Given the description of an element on the screen output the (x, y) to click on. 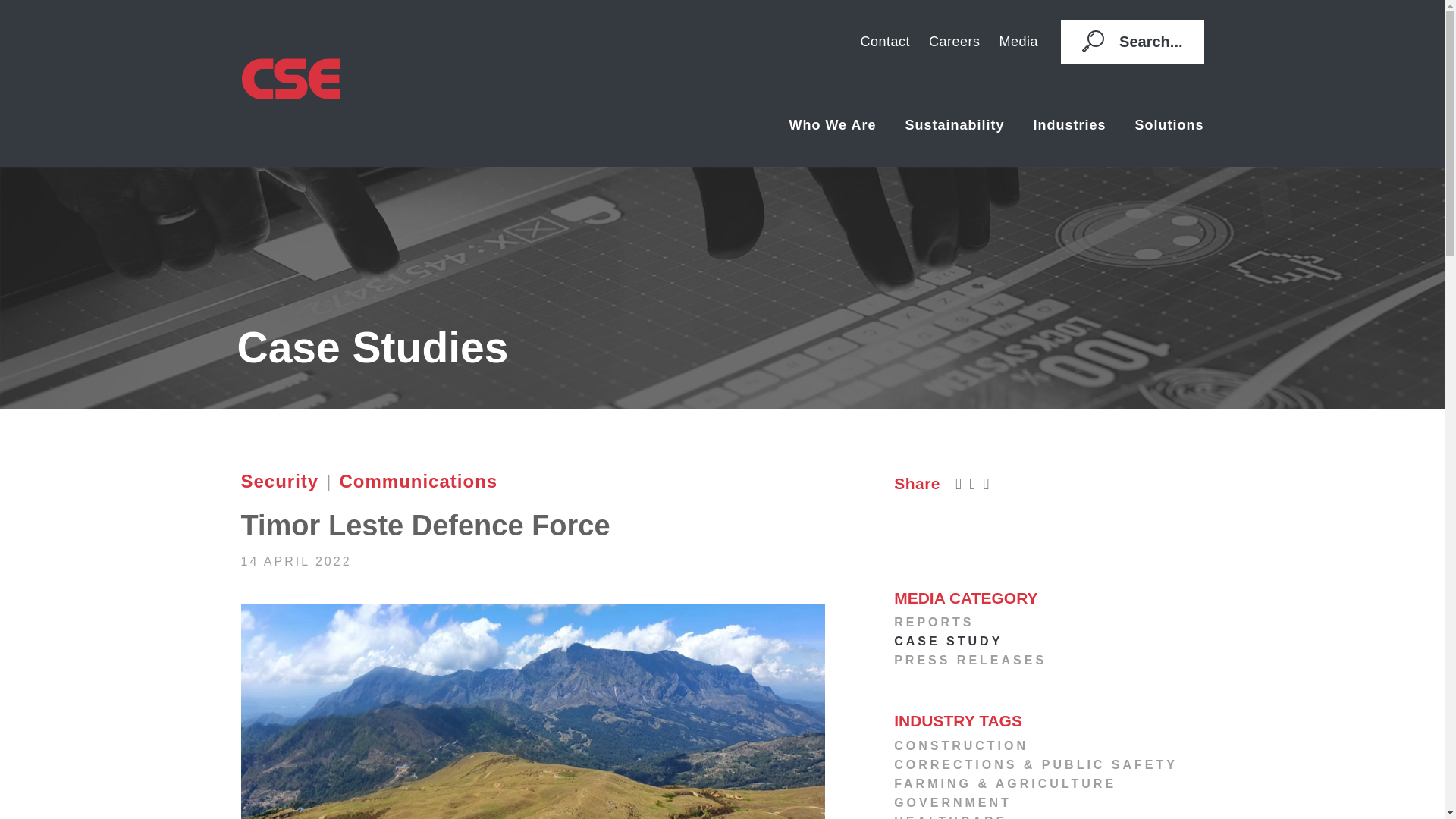
GOVERNMENT (1048, 802)
CASE STUDY (1048, 640)
Sustainability (953, 125)
CONSTRUCTION (1048, 745)
Search... (1132, 41)
Solutions (1168, 125)
Media (1018, 41)
REPORTS (1048, 622)
Who We Are (831, 125)
PRESS RELEASES (1048, 659)
HEALTHCARE (1048, 816)
Careers (953, 41)
Contact (885, 41)
Industries (1069, 125)
